Given the description of an element on the screen output the (x, y) to click on. 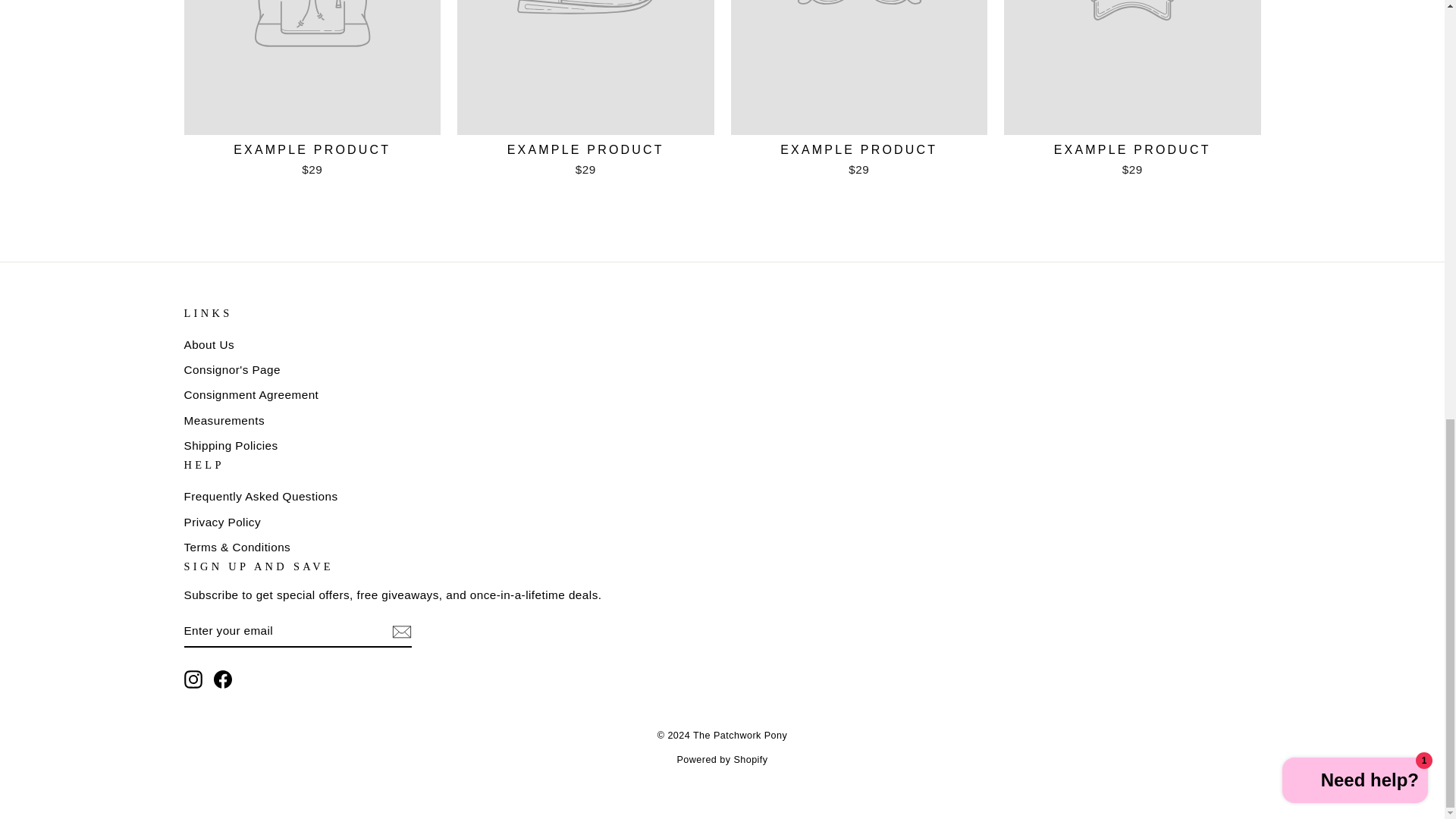
The Patchwork Pony on Instagram (192, 679)
icon-email (400, 631)
The Patchwork Pony on Facebook (222, 679)
instagram (192, 679)
